Given the description of an element on the screen output the (x, y) to click on. 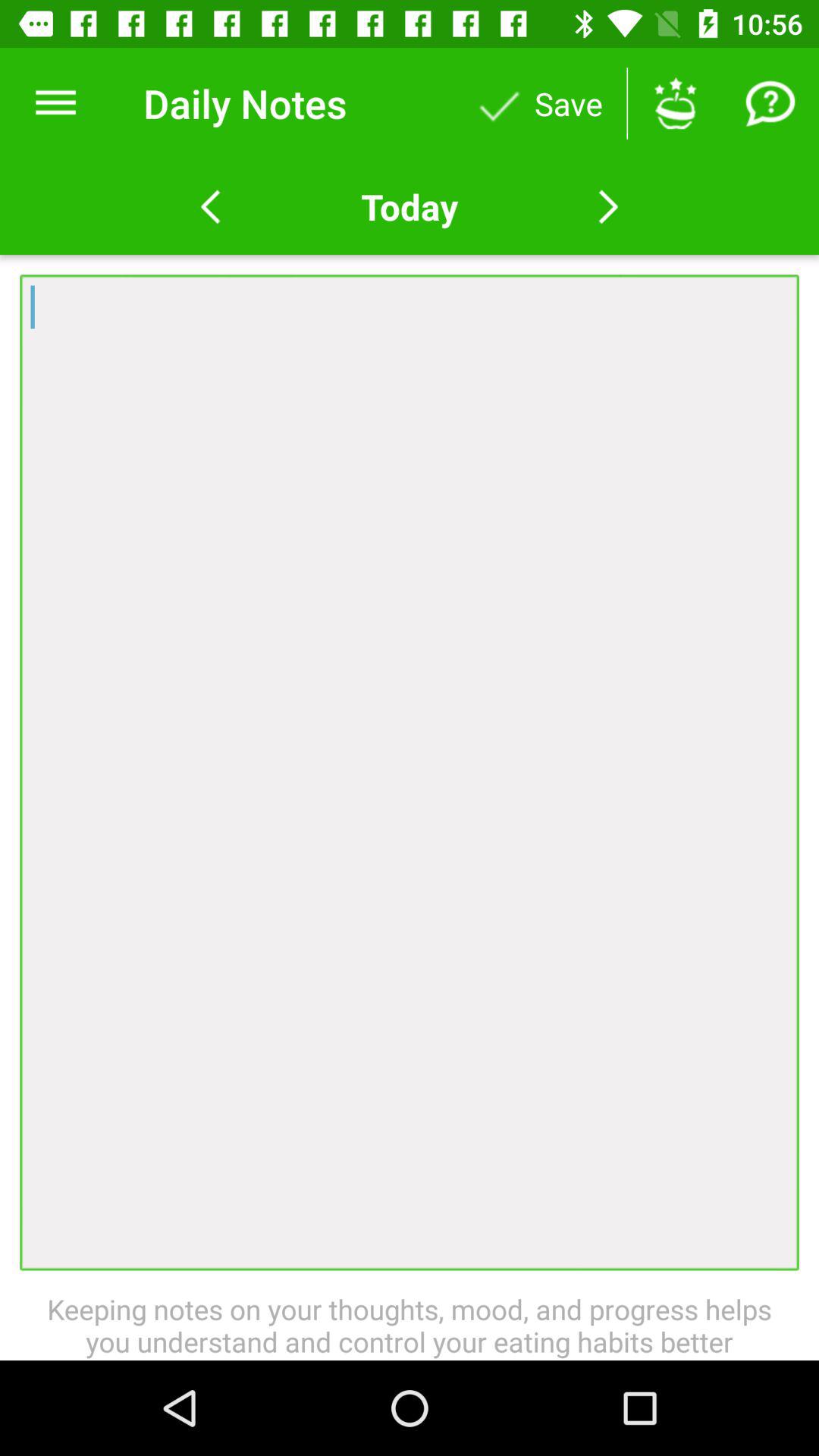
tomorrow (608, 206)
